Given the description of an element on the screen output the (x, y) to click on. 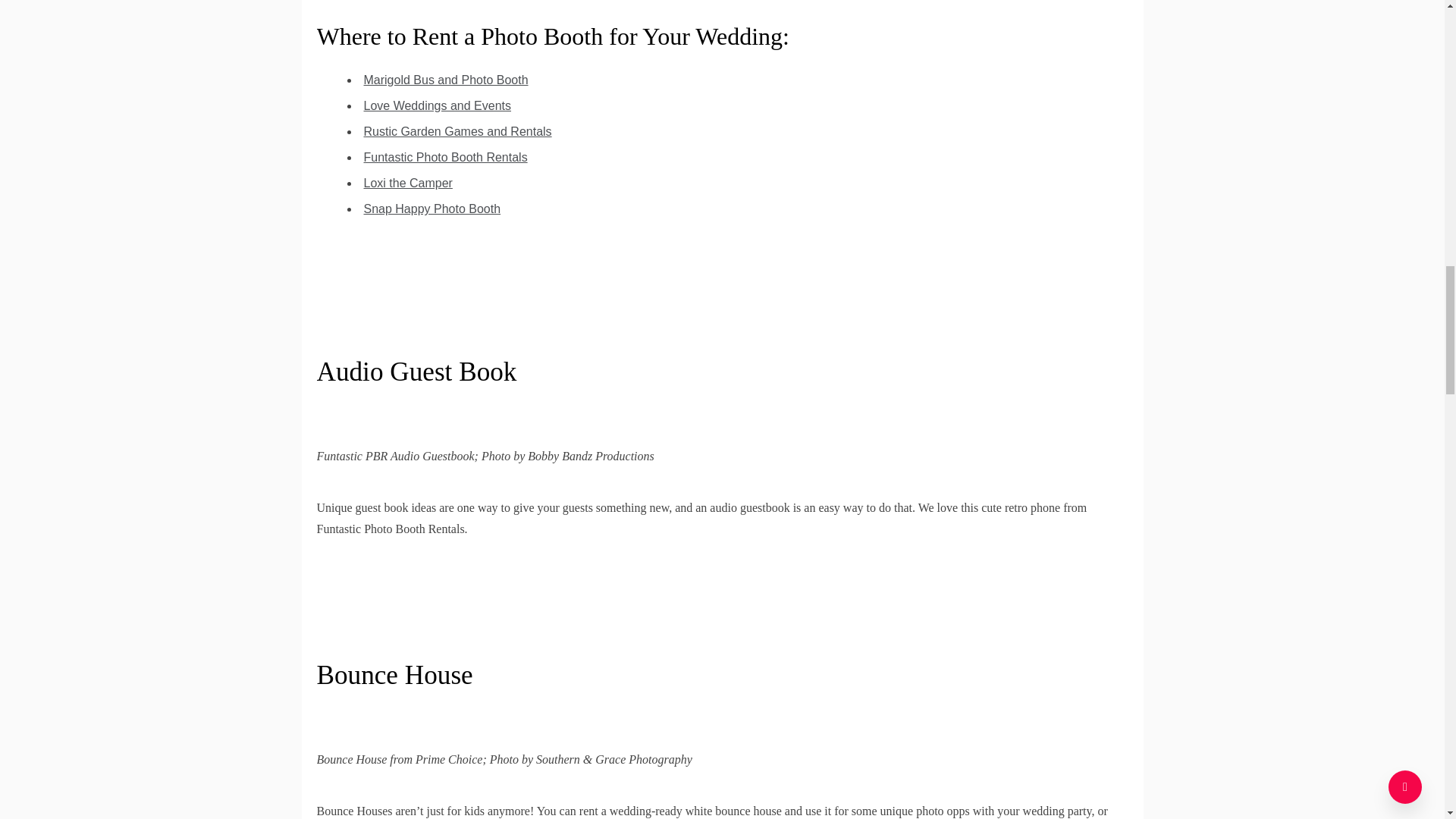
Loxi the Camper (408, 182)
Marigold Bus and Photo Booth (446, 79)
Funtastic Photo Booth Rentals (445, 156)
Snap Happy Photo Booth (432, 208)
Rustic Garden Games and Rentals (457, 131)
Love Weddings and Events (438, 105)
